Given the description of an element on the screen output the (x, y) to click on. 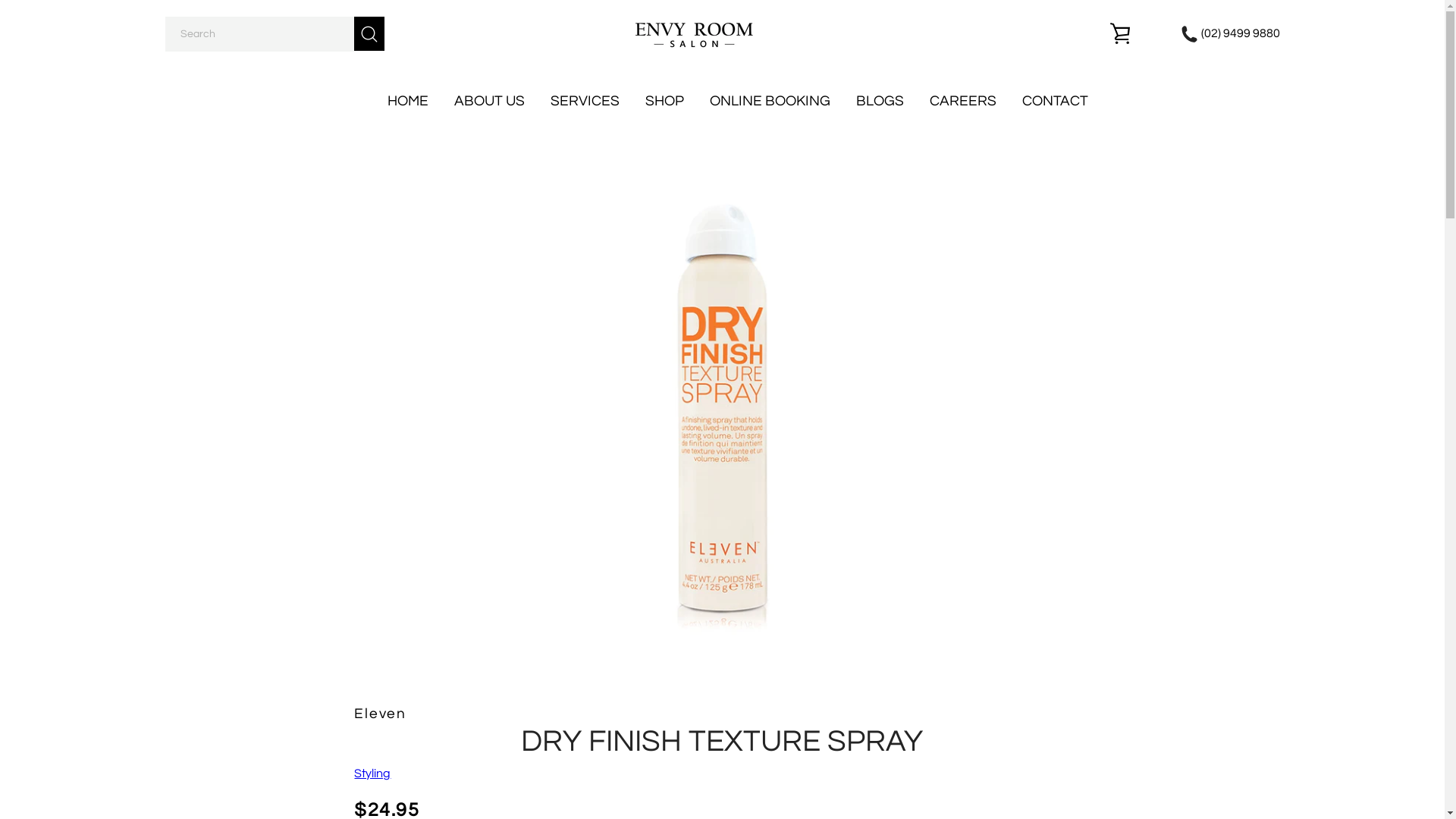
ONLINE BOOKING
ONLINE BOOKING Element type: text (769, 100)
VIEW CART Element type: text (1120, 34)
CONTACT
CONTACT Element type: text (1055, 100)
SERVICES
SERVICES Element type: text (584, 100)
CAREERS
CAREERS Element type: text (962, 100)
SHOP
SHOP Element type: text (663, 100)
Styling Element type: text (372, 773)
ABOUT US
ABOUT US Element type: text (488, 100)
BLOGS
BLOGS Element type: text (879, 100)
Search Element type: text (368, 33)
HOME
HOME Element type: text (406, 100)
(02) 9499 9880 Element type: text (1229, 33)
